Given the description of an element on the screen output the (x, y) to click on. 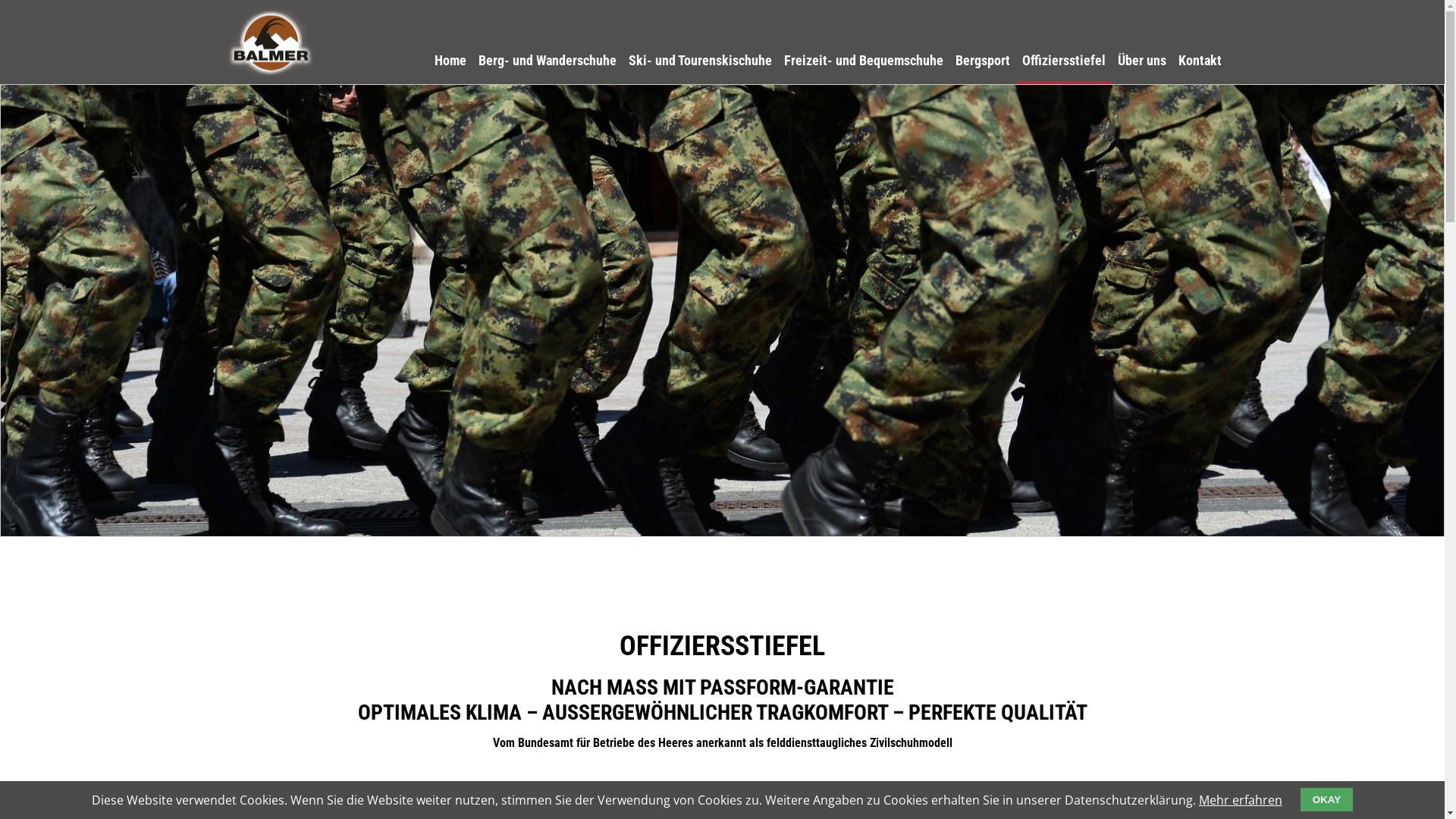
Berg- und Wanderschuhe Element type: text (547, 60)
Home Element type: text (450, 60)
Ski- und Tourenskischuhe Element type: text (700, 60)
Freizeit- und Bequemschuhe Element type: text (863, 60)
Kontakt Element type: text (1199, 60)
OKAY Element type: text (1326, 799)
Mehr erfahren Element type: text (1240, 799)
Bergsport Element type: text (982, 60)
